Given the description of an element on the screen output the (x, y) to click on. 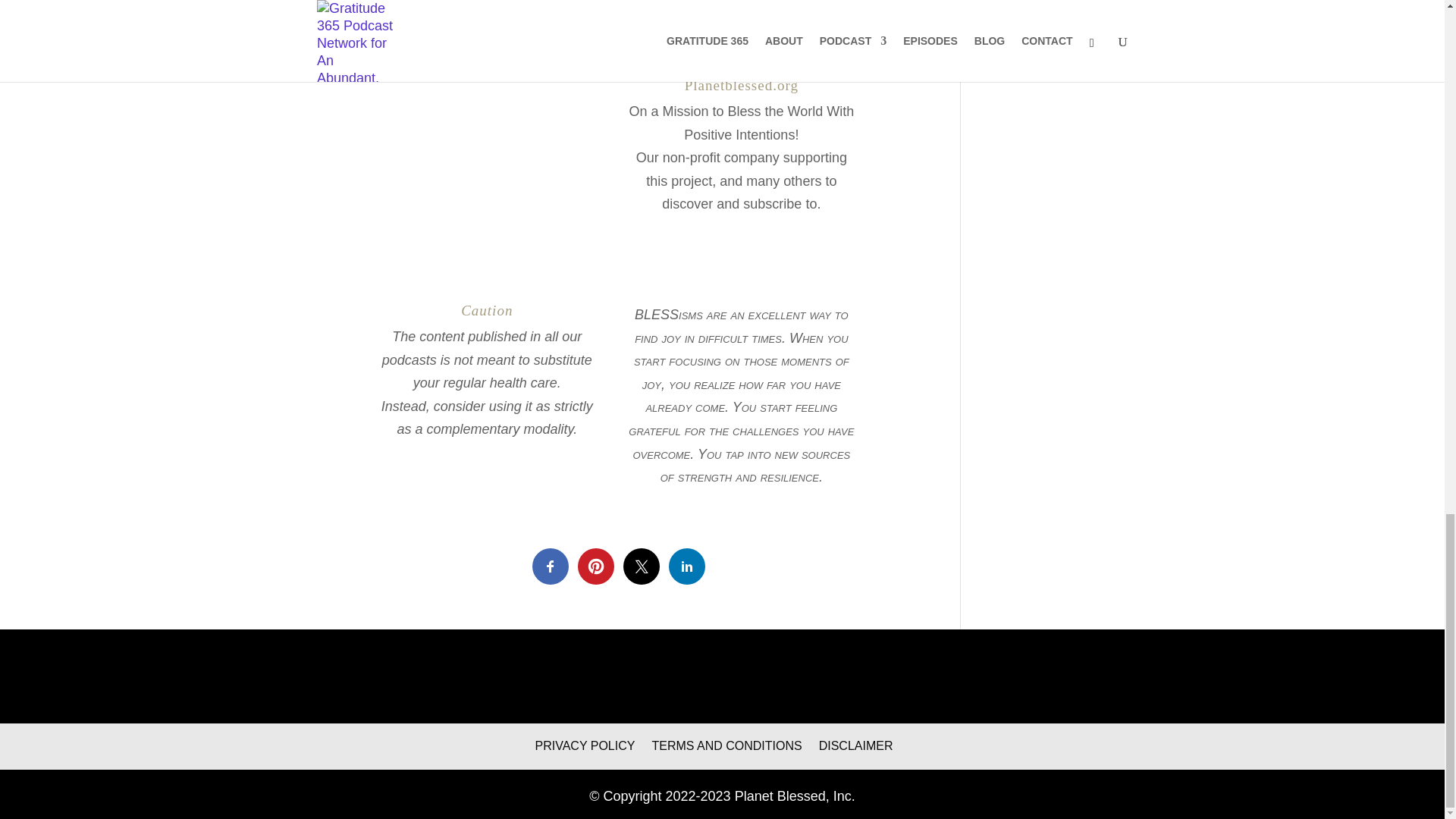
PRIVACY POLICY (584, 745)
TERMS AND CONDITIONS (726, 745)
DISCLAIMER (855, 745)
